Given the description of an element on the screen output the (x, y) to click on. 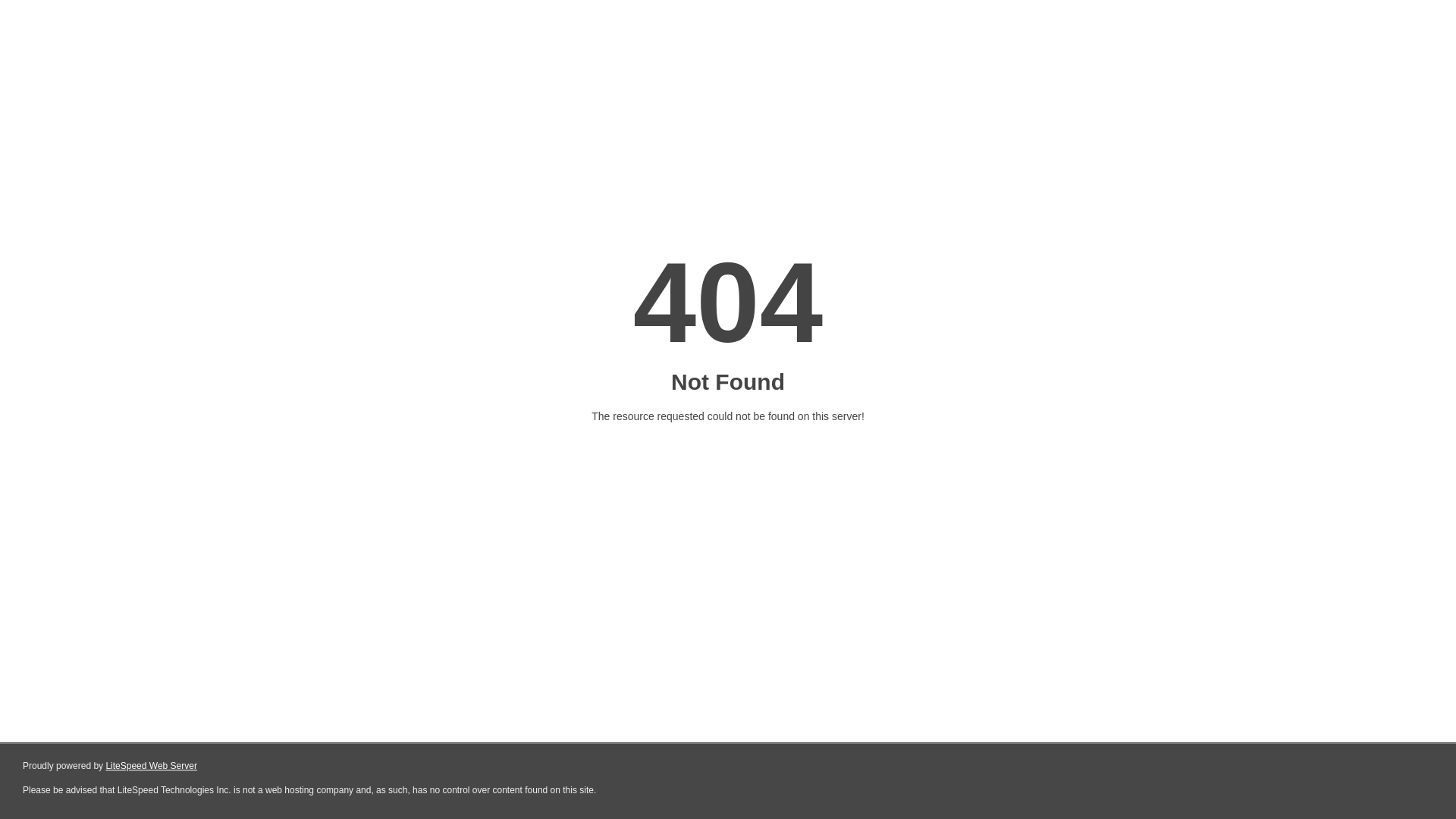
LiteSpeed Web Server Element type: text (151, 765)
